Given the description of an element on the screen output the (x, y) to click on. 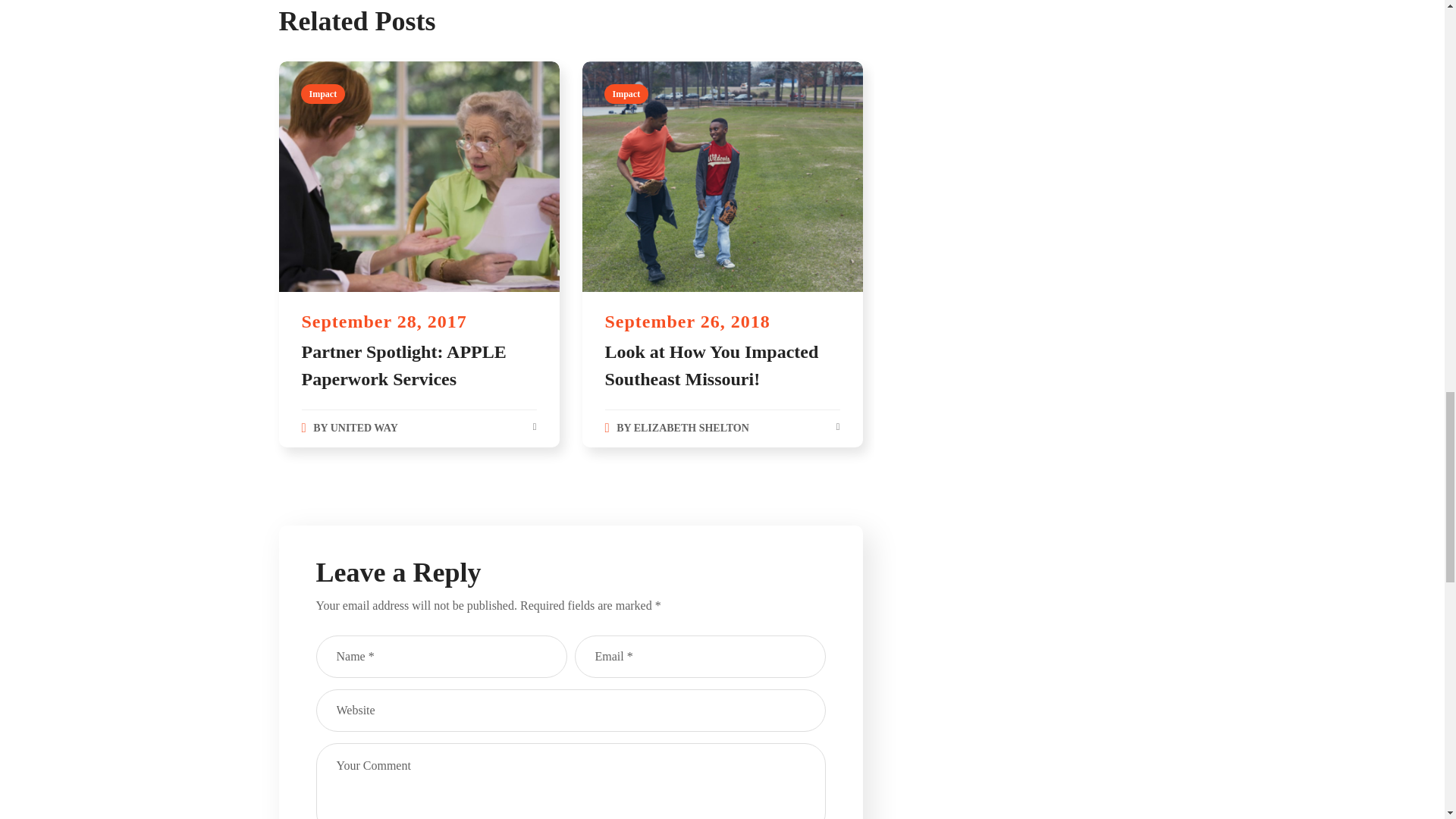
Website (570, 710)
